Given the description of an element on the screen output the (x, y) to click on. 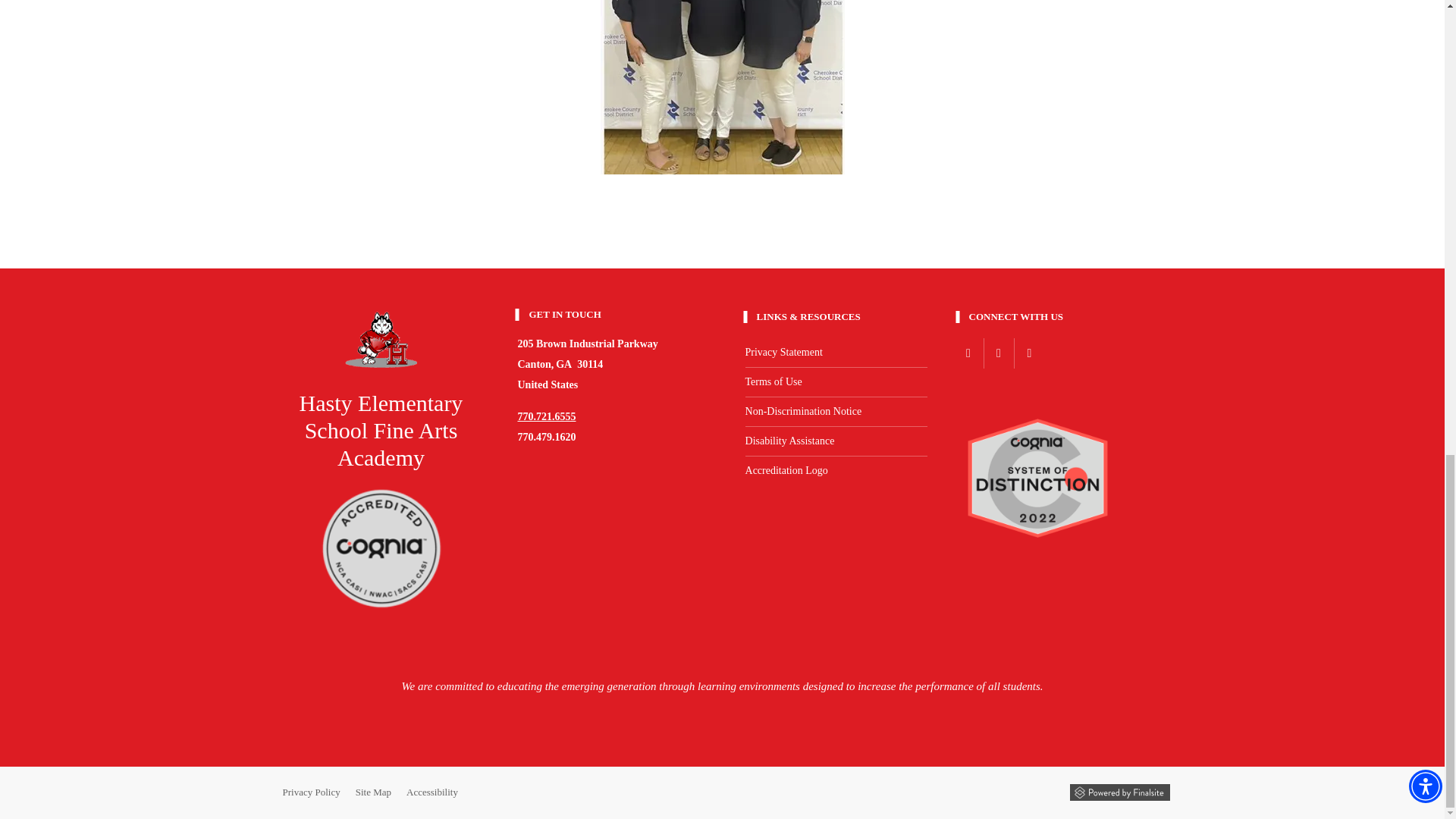
Powered by Finalsite opens in a new window (1118, 791)
